Given the description of an element on the screen output the (x, y) to click on. 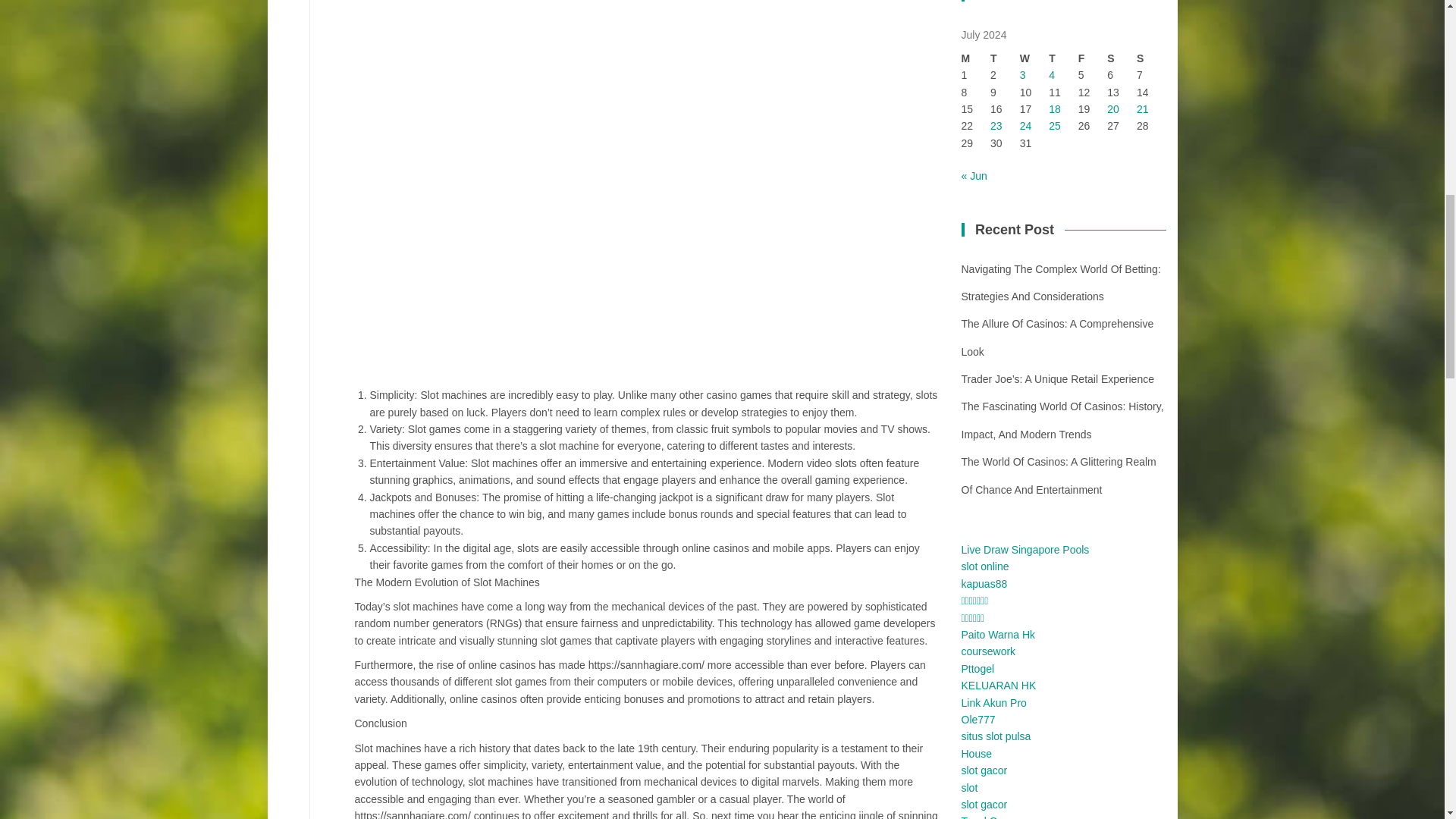
Monday (975, 57)
Friday (1093, 57)
Thursday (1063, 57)
Wednesday (1034, 57)
Tuesday (1005, 57)
